Given the description of an element on the screen output the (x, y) to click on. 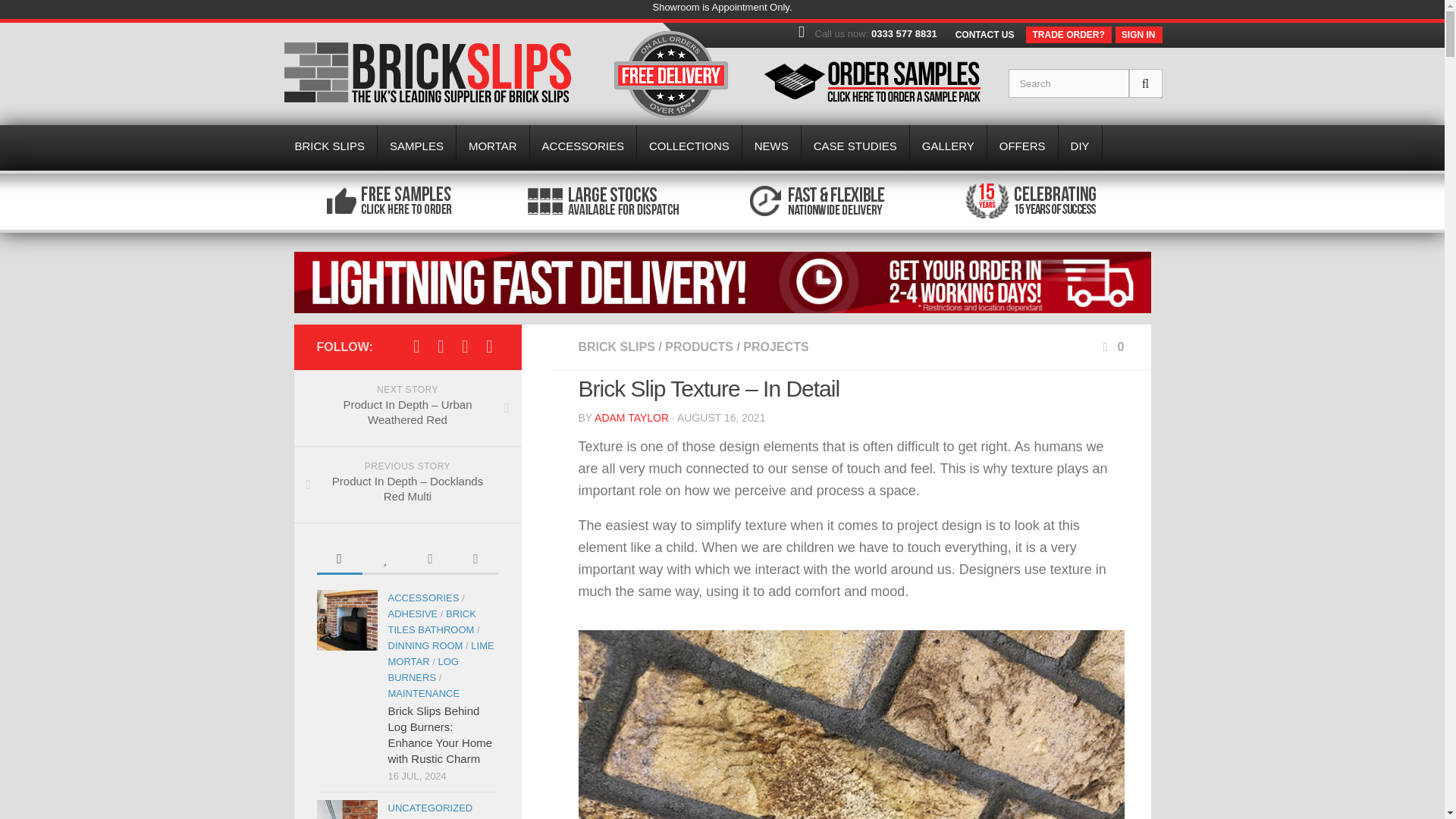
MORTAR (493, 147)
GALLERY (948, 147)
SIGN IN (1138, 34)
Mortar (493, 147)
Brick Slips (426, 72)
PROJECTS (775, 346)
TRADE ORDER? (1068, 34)
0 (1111, 346)
Contact Us (984, 34)
Collections (689, 147)
Brick Slips Case Studies (855, 147)
Log in to your customer account (1138, 34)
CASE STUDIES (855, 147)
Lightning Fast Delivery! (722, 309)
ACCESSORIES (582, 147)
